Given the description of an element on the screen output the (x, y) to click on. 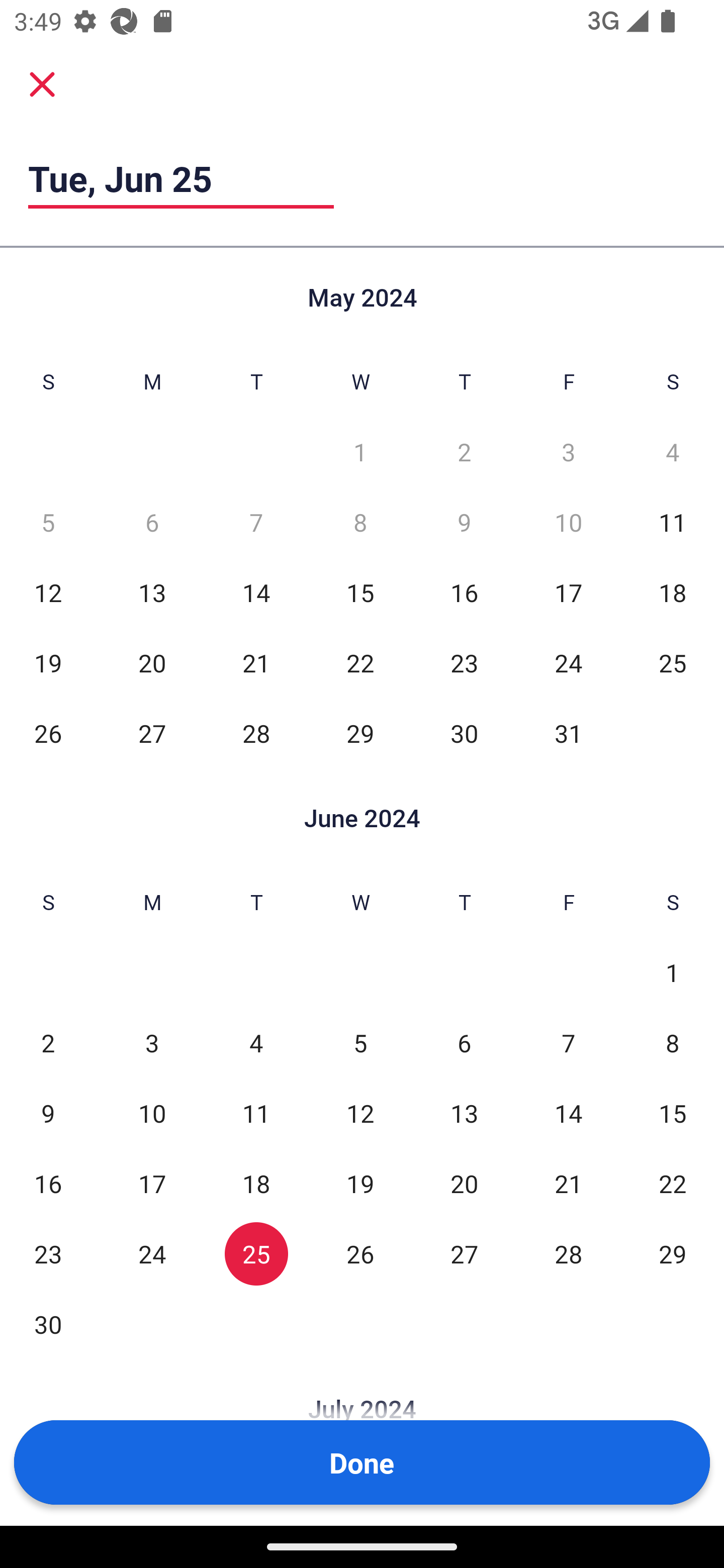
Cancel (41, 83)
Tue, Jun 25 (180, 178)
1 Wed, May 1, Not Selected (360, 452)
2 Thu, May 2, Not Selected (464, 452)
3 Fri, May 3, Not Selected (568, 452)
4 Sat, May 4, Not Selected (672, 452)
5 Sun, May 5, Not Selected (48, 521)
6 Mon, May 6, Not Selected (152, 521)
7 Tue, May 7, Not Selected (256, 521)
8 Wed, May 8, Not Selected (360, 521)
9 Thu, May 9, Not Selected (464, 521)
10 Fri, May 10, Not Selected (568, 521)
11 Sat, May 11, Not Selected (672, 521)
12 Sun, May 12, Not Selected (48, 591)
13 Mon, May 13, Not Selected (152, 591)
14 Tue, May 14, Not Selected (256, 591)
15 Wed, May 15, Not Selected (360, 591)
16 Thu, May 16, Not Selected (464, 591)
17 Fri, May 17, Not Selected (568, 591)
18 Sat, May 18, Not Selected (672, 591)
19 Sun, May 19, Not Selected (48, 662)
20 Mon, May 20, Not Selected (152, 662)
21 Tue, May 21, Not Selected (256, 662)
22 Wed, May 22, Not Selected (360, 662)
23 Thu, May 23, Not Selected (464, 662)
24 Fri, May 24, Not Selected (568, 662)
25 Sat, May 25, Not Selected (672, 662)
26 Sun, May 26, Not Selected (48, 732)
27 Mon, May 27, Not Selected (152, 732)
28 Tue, May 28, Not Selected (256, 732)
29 Wed, May 29, Not Selected (360, 732)
30 Thu, May 30, Not Selected (464, 732)
31 Fri, May 31, Not Selected (568, 732)
1 Sat, Jun 1, Not Selected (672, 972)
2 Sun, Jun 2, Not Selected (48, 1043)
3 Mon, Jun 3, Not Selected (152, 1043)
4 Tue, Jun 4, Not Selected (256, 1043)
5 Wed, Jun 5, Not Selected (360, 1043)
6 Thu, Jun 6, Not Selected (464, 1043)
7 Fri, Jun 7, Not Selected (568, 1043)
8 Sat, Jun 8, Not Selected (672, 1043)
9 Sun, Jun 9, Not Selected (48, 1112)
10 Mon, Jun 10, Not Selected (152, 1112)
11 Tue, Jun 11, Not Selected (256, 1112)
12 Wed, Jun 12, Not Selected (360, 1112)
13 Thu, Jun 13, Not Selected (464, 1112)
14 Fri, Jun 14, Not Selected (568, 1112)
15 Sat, Jun 15, Not Selected (672, 1112)
16 Sun, Jun 16, Not Selected (48, 1182)
17 Mon, Jun 17, Not Selected (152, 1182)
18 Tue, Jun 18, Not Selected (256, 1182)
19 Wed, Jun 19, Not Selected (360, 1182)
20 Thu, Jun 20, Not Selected (464, 1182)
21 Fri, Jun 21, Not Selected (568, 1182)
22 Sat, Jun 22, Not Selected (672, 1182)
23 Sun, Jun 23, Not Selected (48, 1253)
24 Mon, Jun 24, Not Selected (152, 1253)
25 Tue, Jun 25, Selected (256, 1253)
26 Wed, Jun 26, Not Selected (360, 1253)
27 Thu, Jun 27, Not Selected (464, 1253)
28 Fri, Jun 28, Not Selected (568, 1253)
29 Sat, Jun 29, Not Selected (672, 1253)
30 Sun, Jun 30, Not Selected (48, 1323)
Done Button Done (361, 1462)
